Given the description of an element on the screen output the (x, y) to click on. 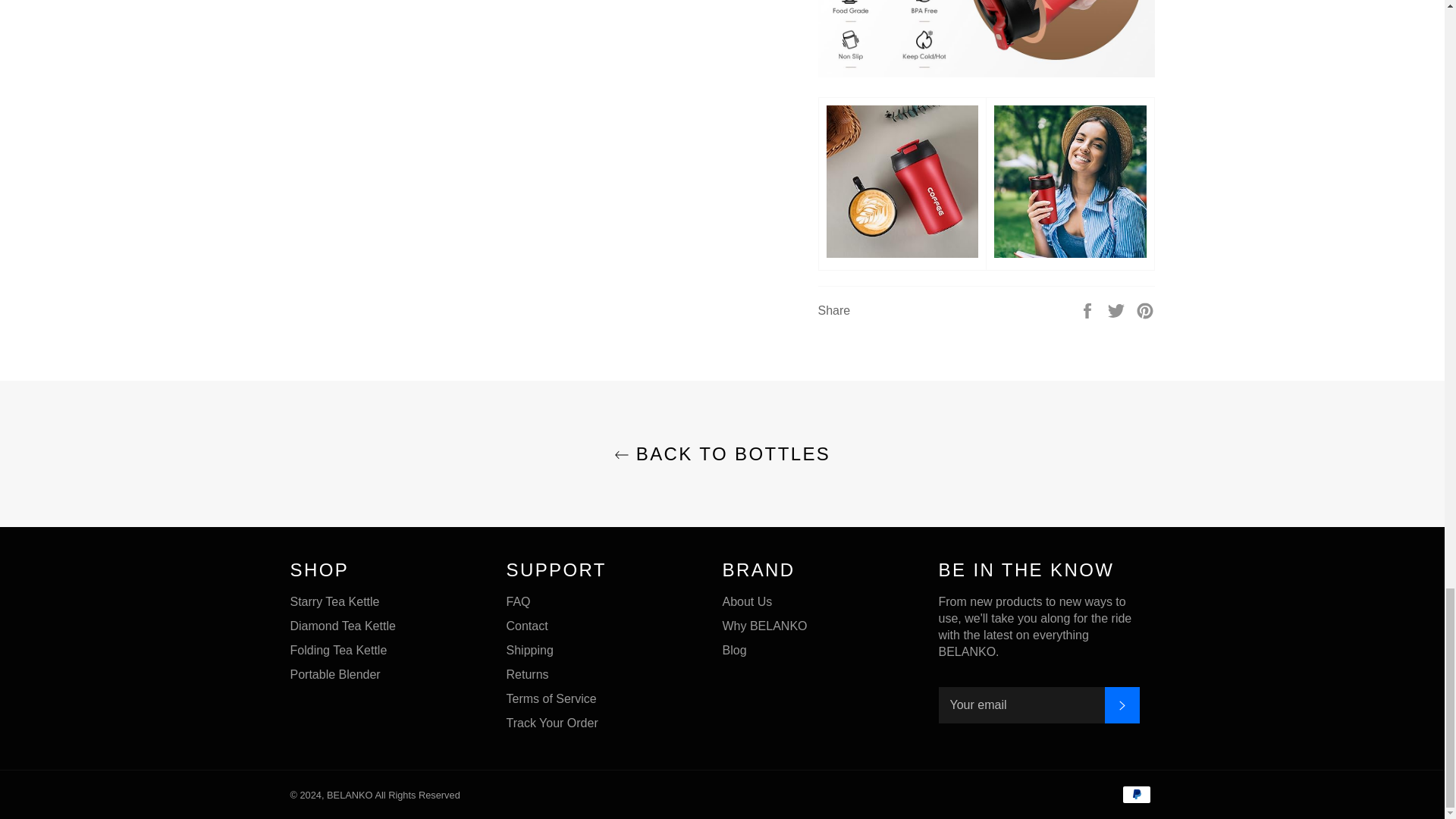
Pin on Pinterest (1144, 309)
Share on Facebook (1088, 309)
Tweet on Twitter (1117, 309)
